Given the description of an element on the screen output the (x, y) to click on. 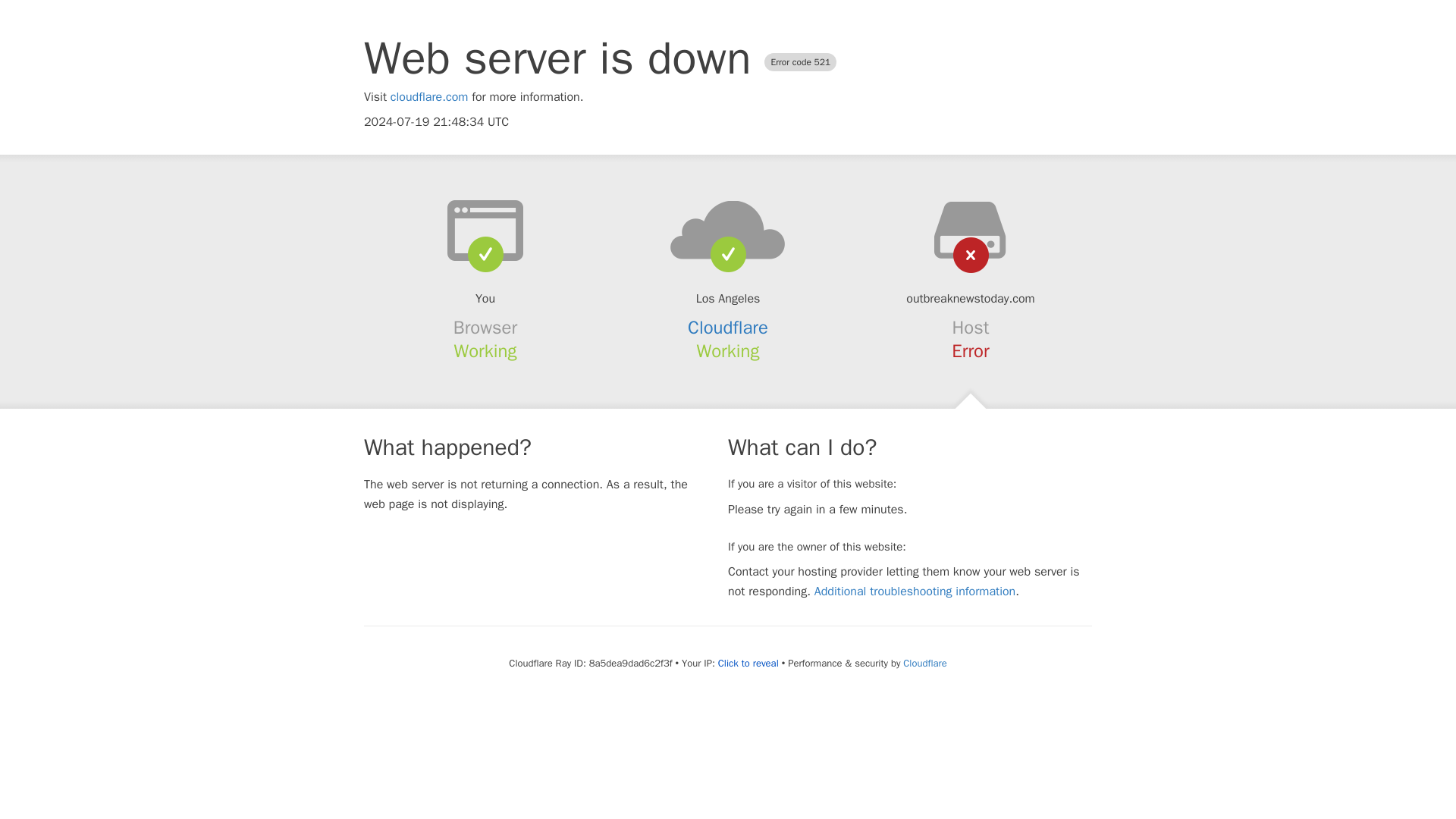
Additional troubleshooting information (913, 590)
Cloudflare (924, 662)
Cloudflare (727, 327)
Click to reveal (747, 663)
cloudflare.com (429, 96)
